Given the description of an element on the screen output the (x, y) to click on. 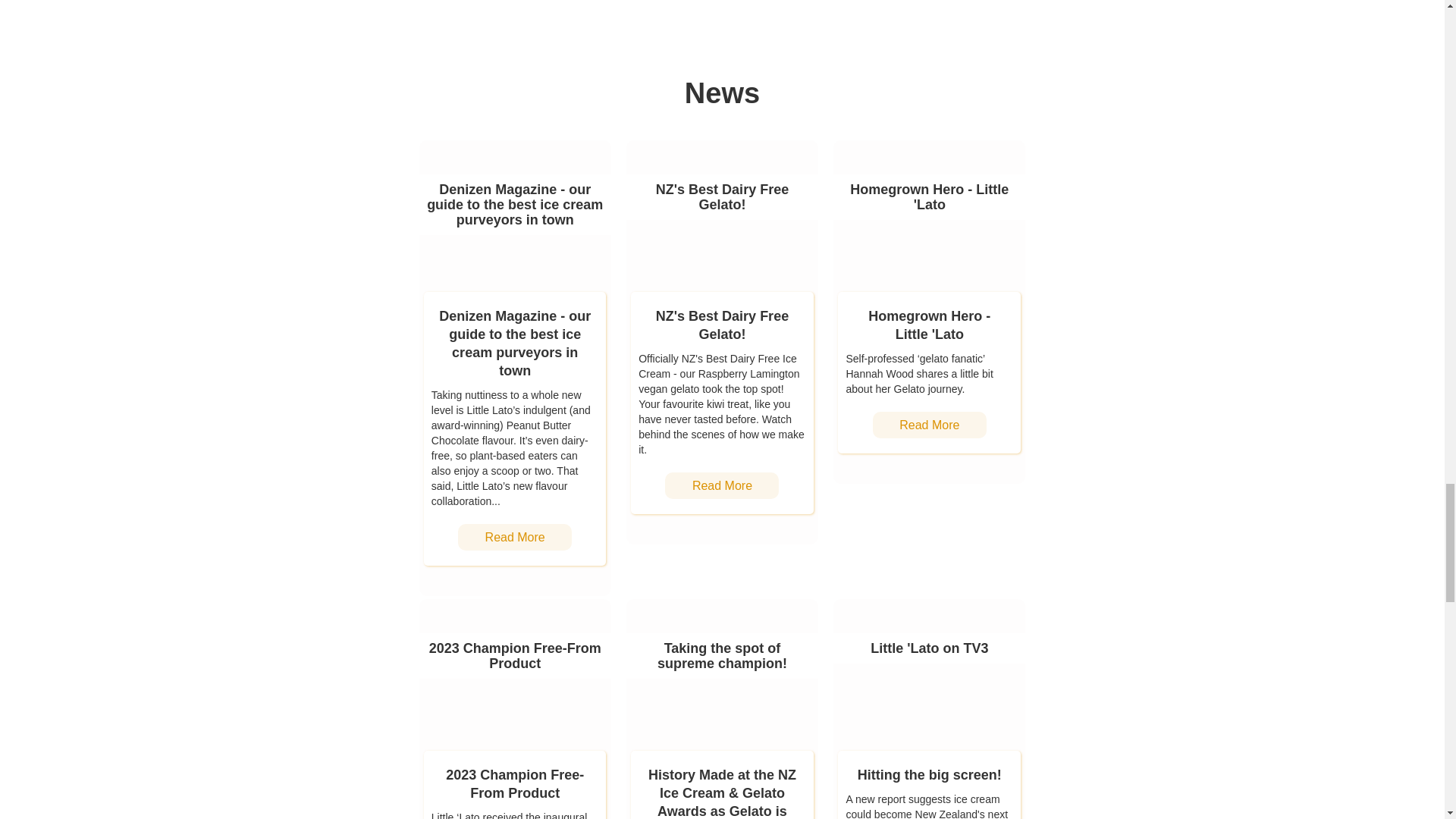
Read More (721, 485)
Read More (515, 537)
Read More (929, 424)
